Given the description of an element on the screen output the (x, y) to click on. 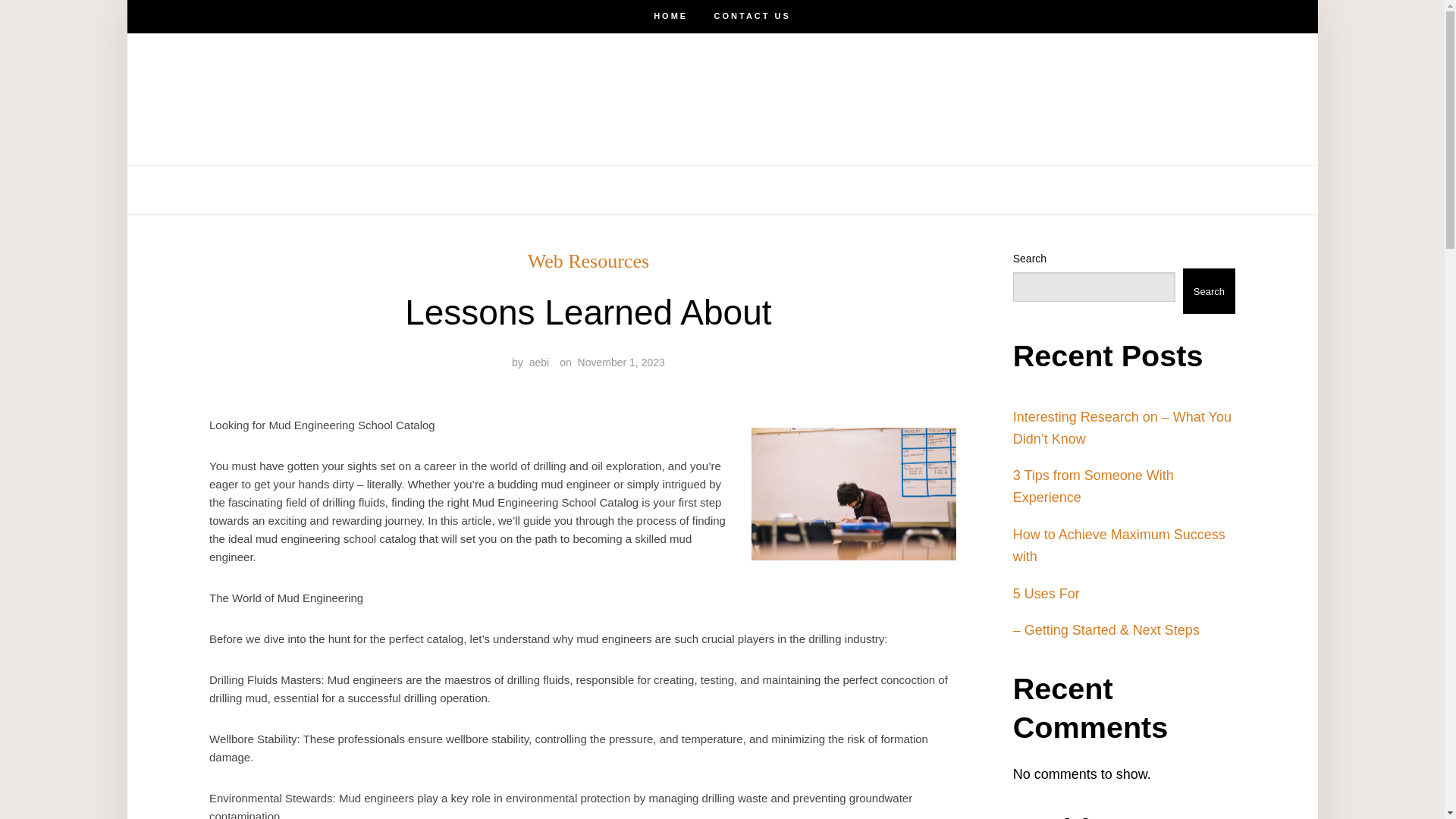
CONTACT US (722, 190)
aebi (538, 362)
5 Uses For (1046, 593)
November 1, 2023 (621, 362)
HOME (670, 16)
3 Tips from Someone With Experience (1093, 486)
CONTACT US (752, 16)
Web Resources (588, 260)
Submit (64, 23)
How to Achieve Maximum Success with (1119, 545)
Search (1208, 290)
